Given the description of an element on the screen output the (x, y) to click on. 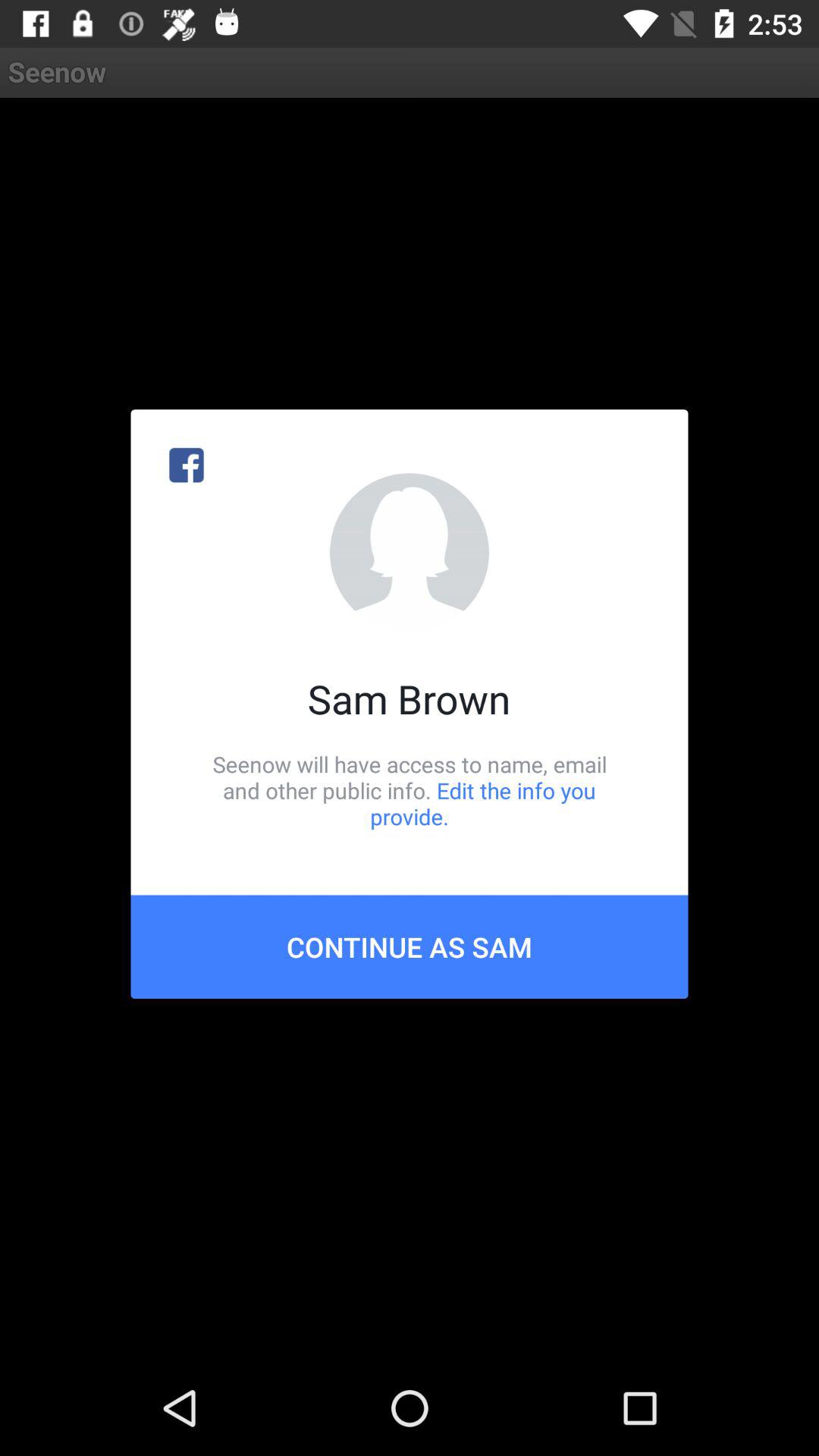
scroll to the continue as sam (409, 946)
